Given the description of an element on the screen output the (x, y) to click on. 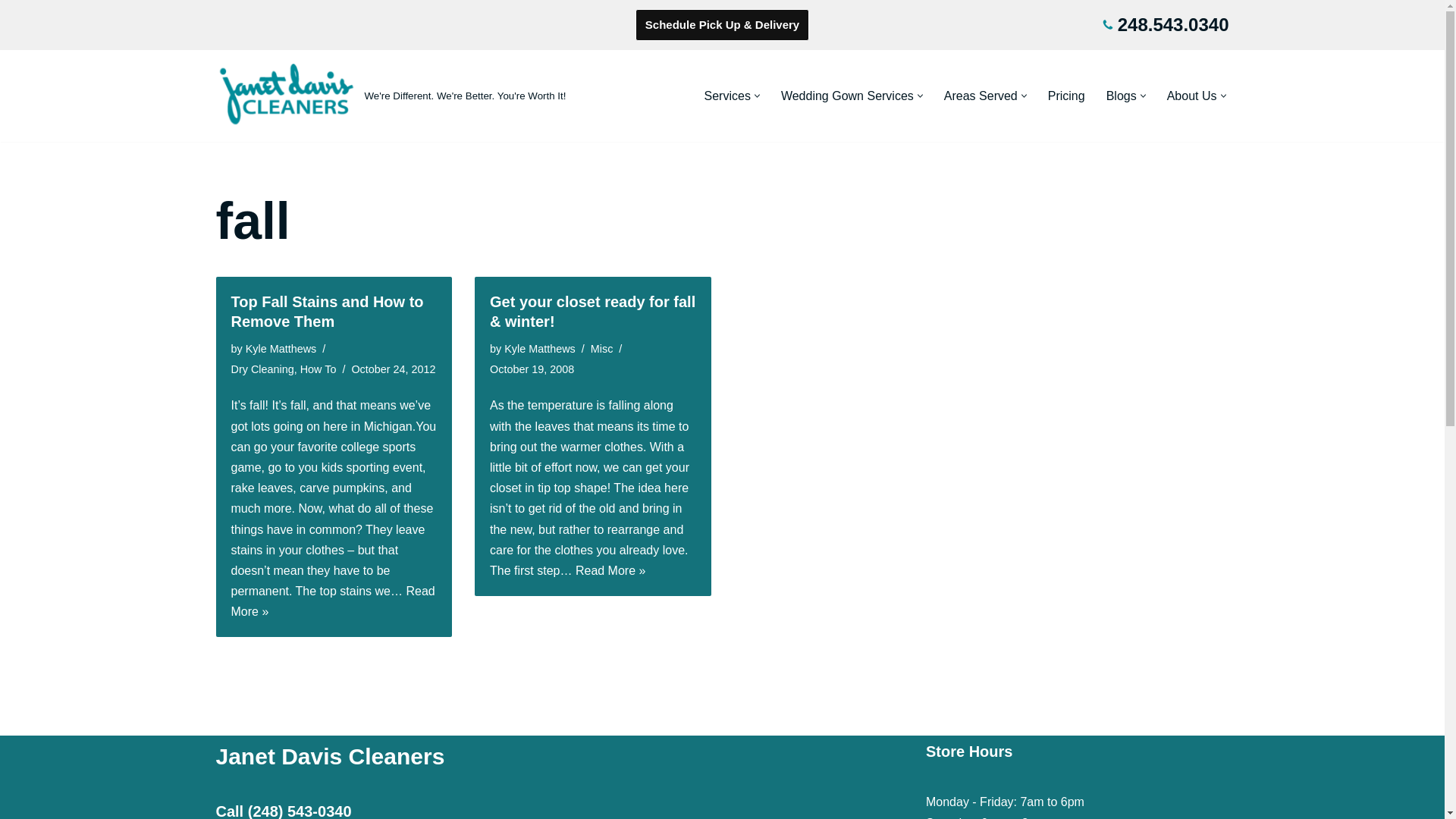
Services (727, 95)
Blogs (1121, 95)
About Us (1192, 95)
Wedding Gown Services (847, 95)
248.543.0340 (1173, 24)
We're Different. We're Better. You're Worth It! (390, 95)
Pricing (1066, 95)
Skip to content (11, 31)
Posts by Kyle Matthews (281, 348)
Posts by Kyle Matthews (539, 348)
